Given the description of an element on the screen output the (x, y) to click on. 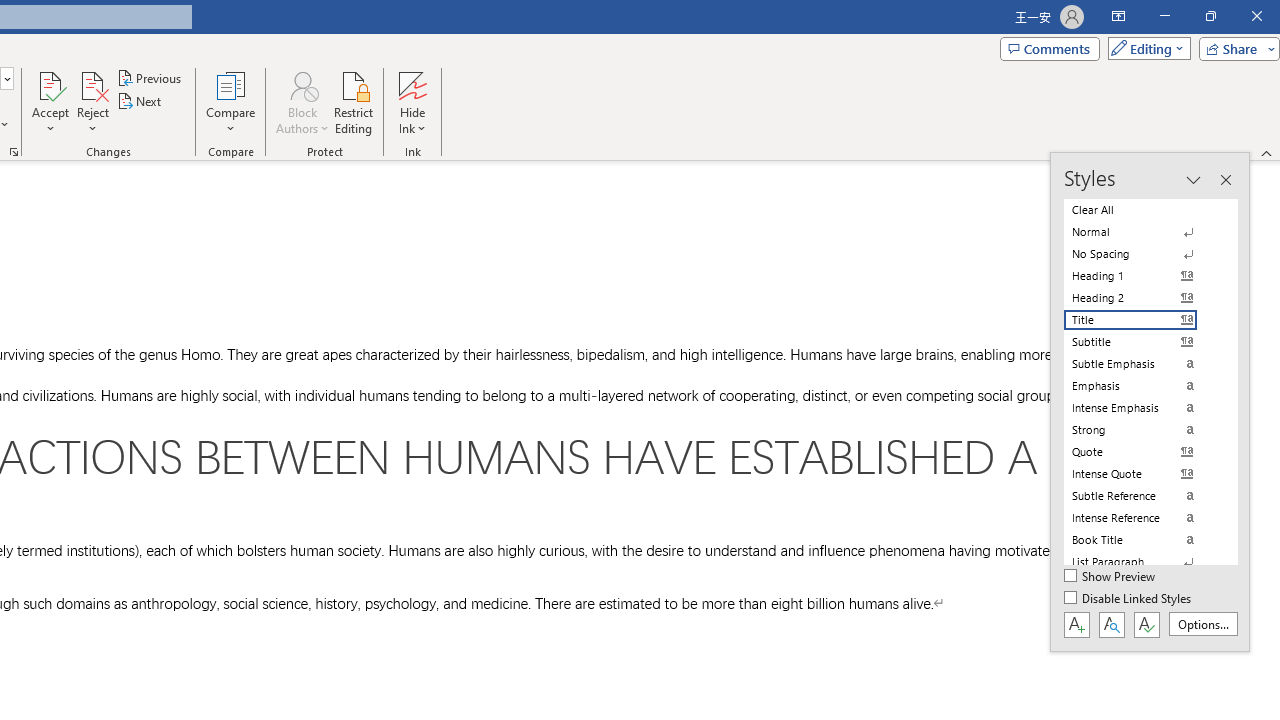
Reject and Move to Next (92, 84)
Subtle Reference (1142, 495)
Hide Ink (412, 84)
